Given the description of an element on the screen output the (x, y) to click on. 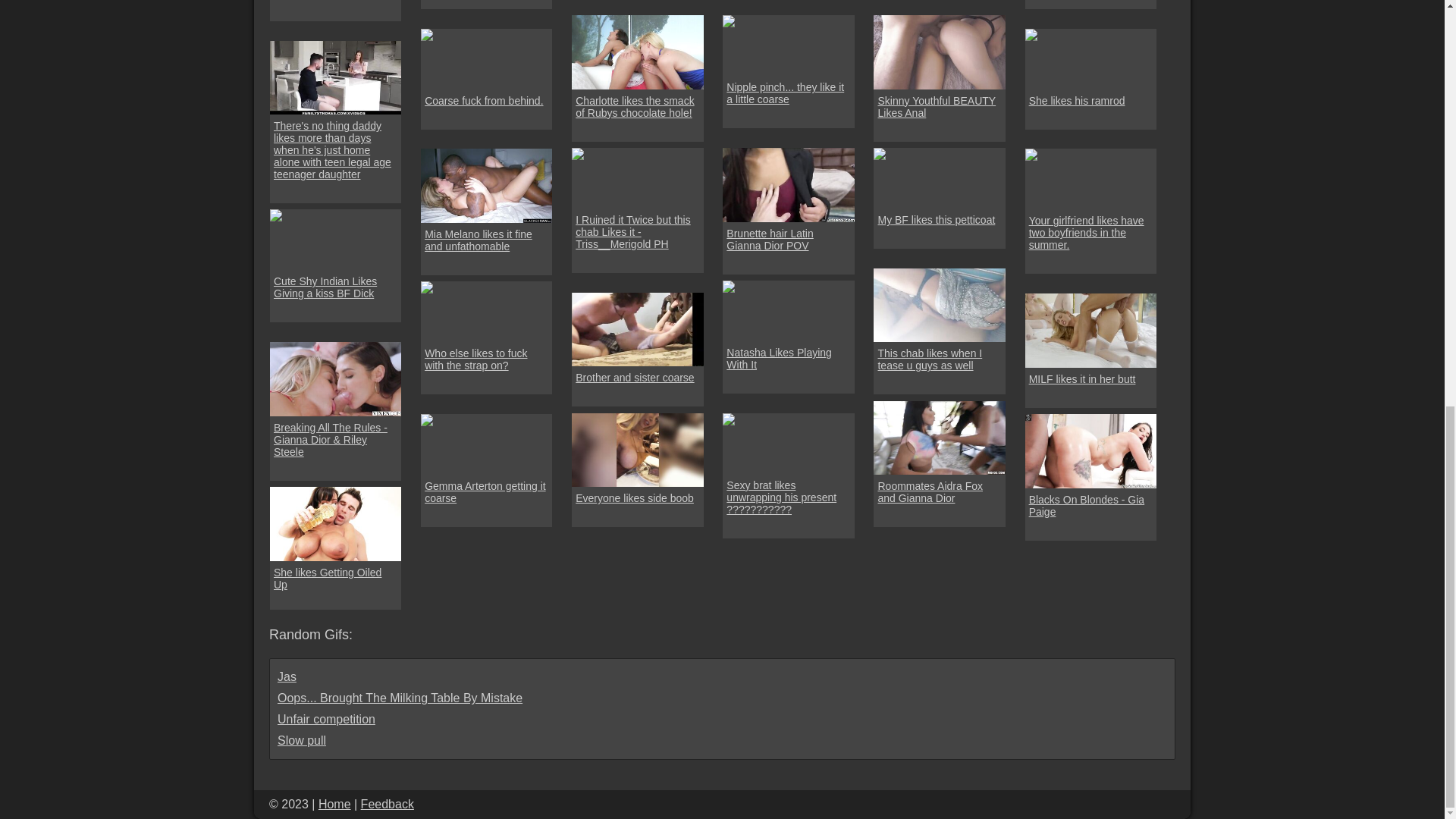
Charlotte likes the smack of Rubys chocolate hole! (636, 106)
Mia Melano likes it fine and unfathomable (486, 240)
Nipple pinch... they like it a little coarse (788, 93)
Skinny Youthful BEAUTY Likes Anal (939, 106)
Brunette hair Latin Gianna Dior POV (788, 238)
My BF likes this petticoat (935, 219)
She likes his ramrod (1077, 101)
Coarse fuck from behind. (484, 101)
